Given the description of an element on the screen output the (x, y) to click on. 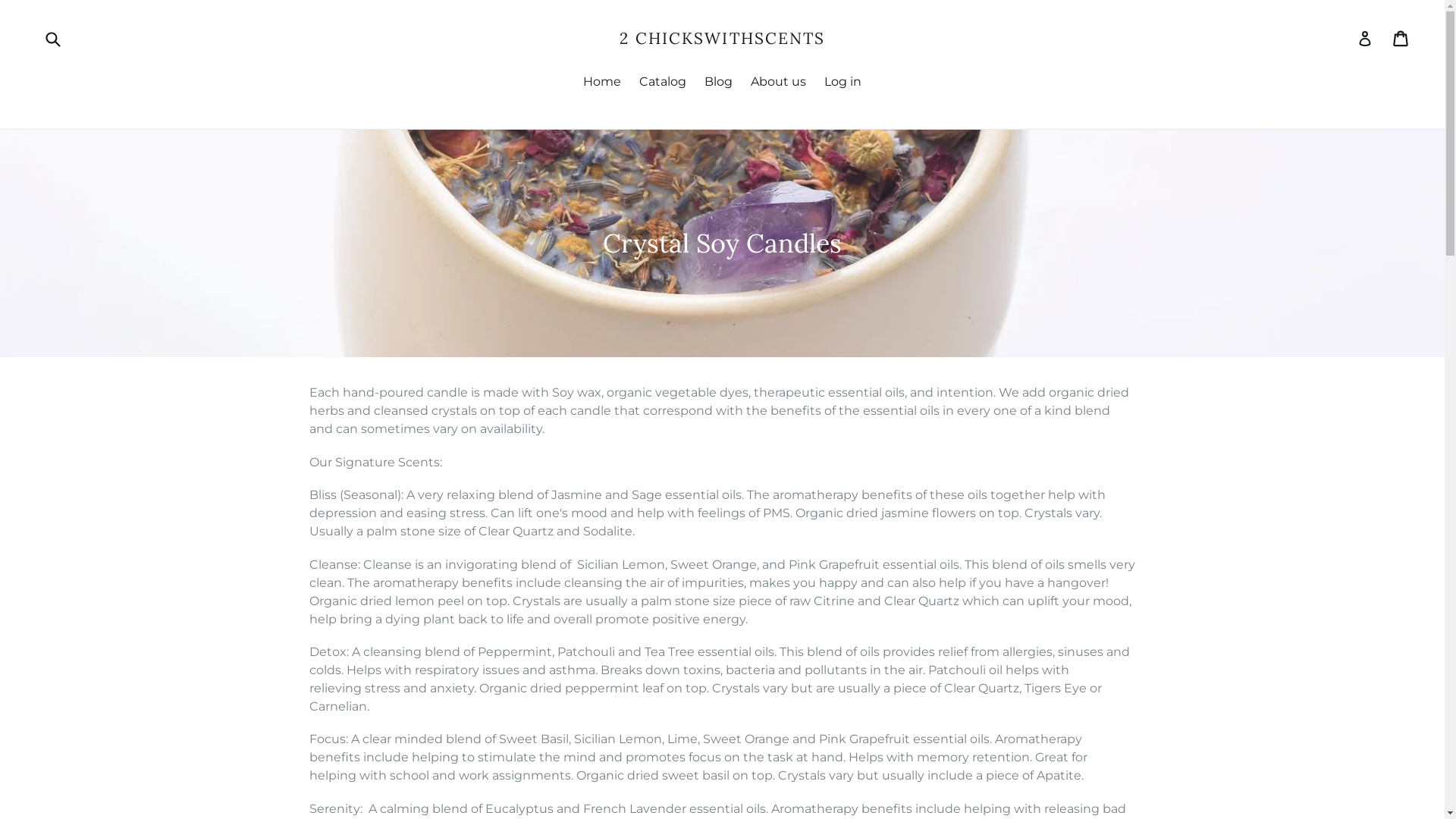
Cart
Cart Element type: text (1401, 38)
2 CHICKSWITHSCENTS Element type: text (722, 37)
Log in Element type: text (1364, 38)
Home Element type: text (601, 82)
Submit Element type: text (51, 37)
Blog Element type: text (718, 82)
Catalog Element type: text (662, 82)
About us Element type: text (778, 82)
Log in Element type: text (842, 82)
